Given the description of an element on the screen output the (x, y) to click on. 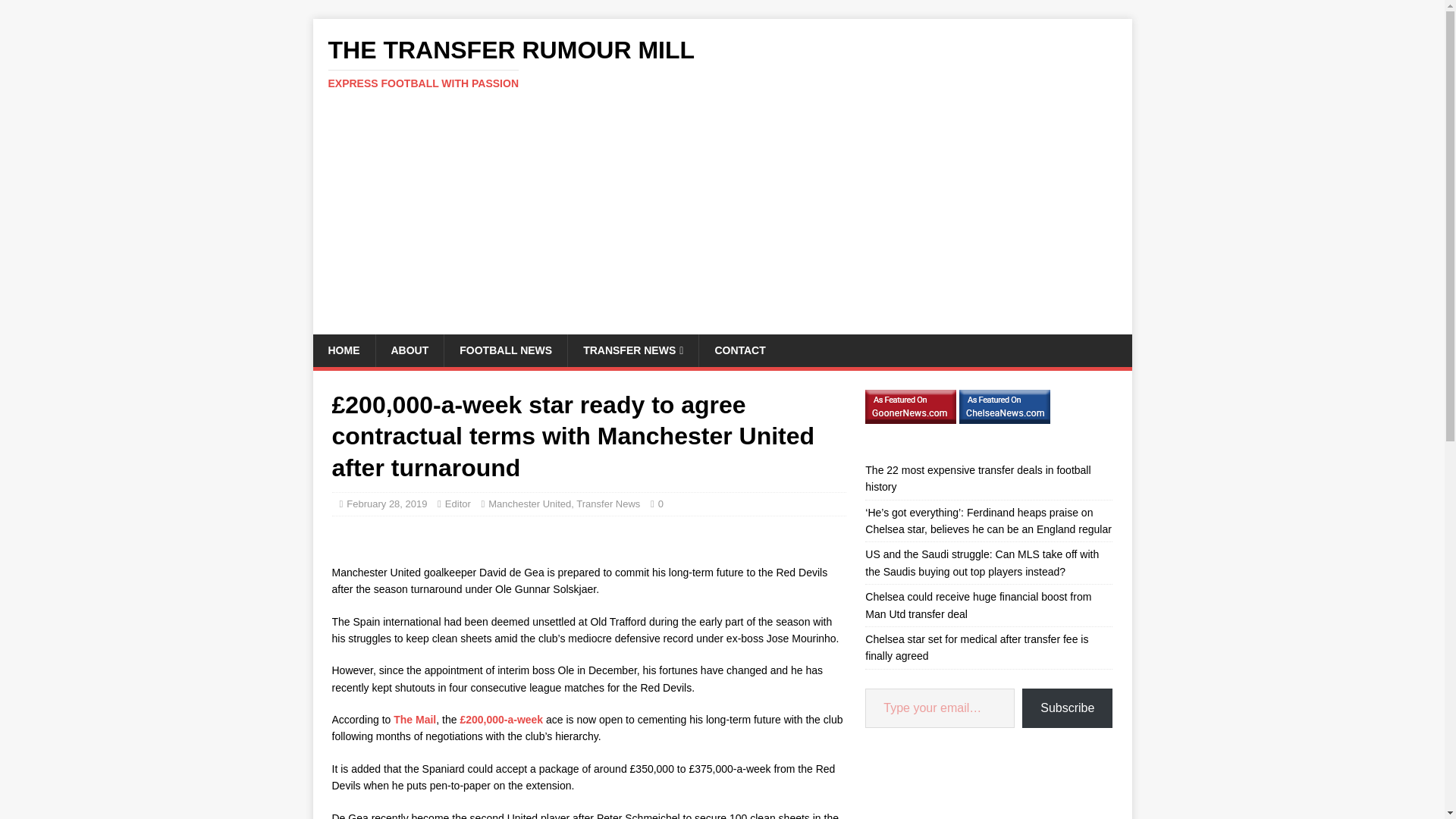
The Transfer Rumour Mill (721, 63)
Editor (457, 503)
Transfer News (608, 503)
February 28, 2019 (386, 503)
CONTACT (739, 350)
FOOTBALL NEWS (505, 350)
ABOUT (409, 350)
TRANSFER NEWS (632, 350)
The Mail (414, 719)
